Given the description of an element on the screen output the (x, y) to click on. 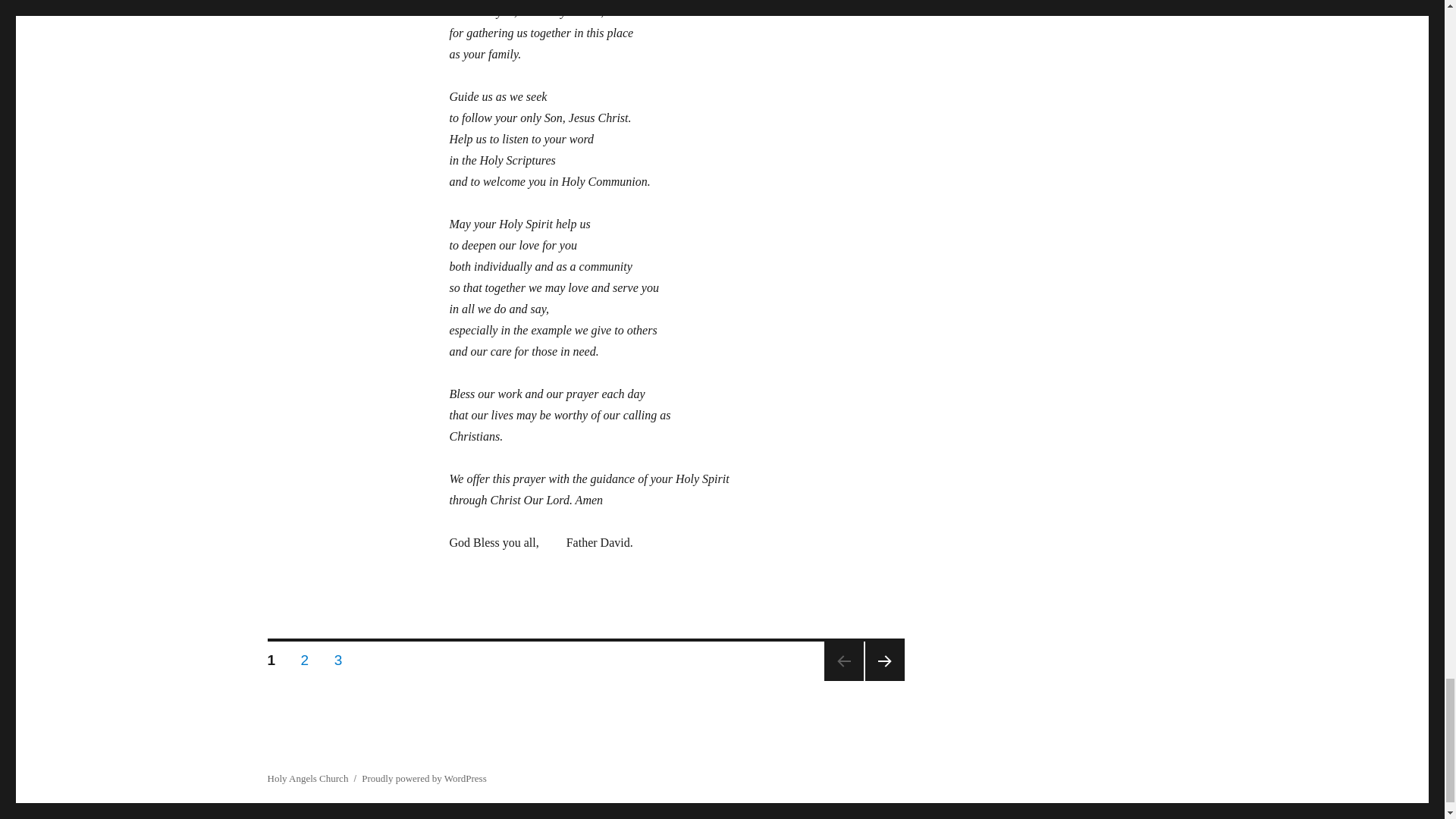
NEXT PAGE (304, 657)
